Given the description of an element on the screen output the (x, y) to click on. 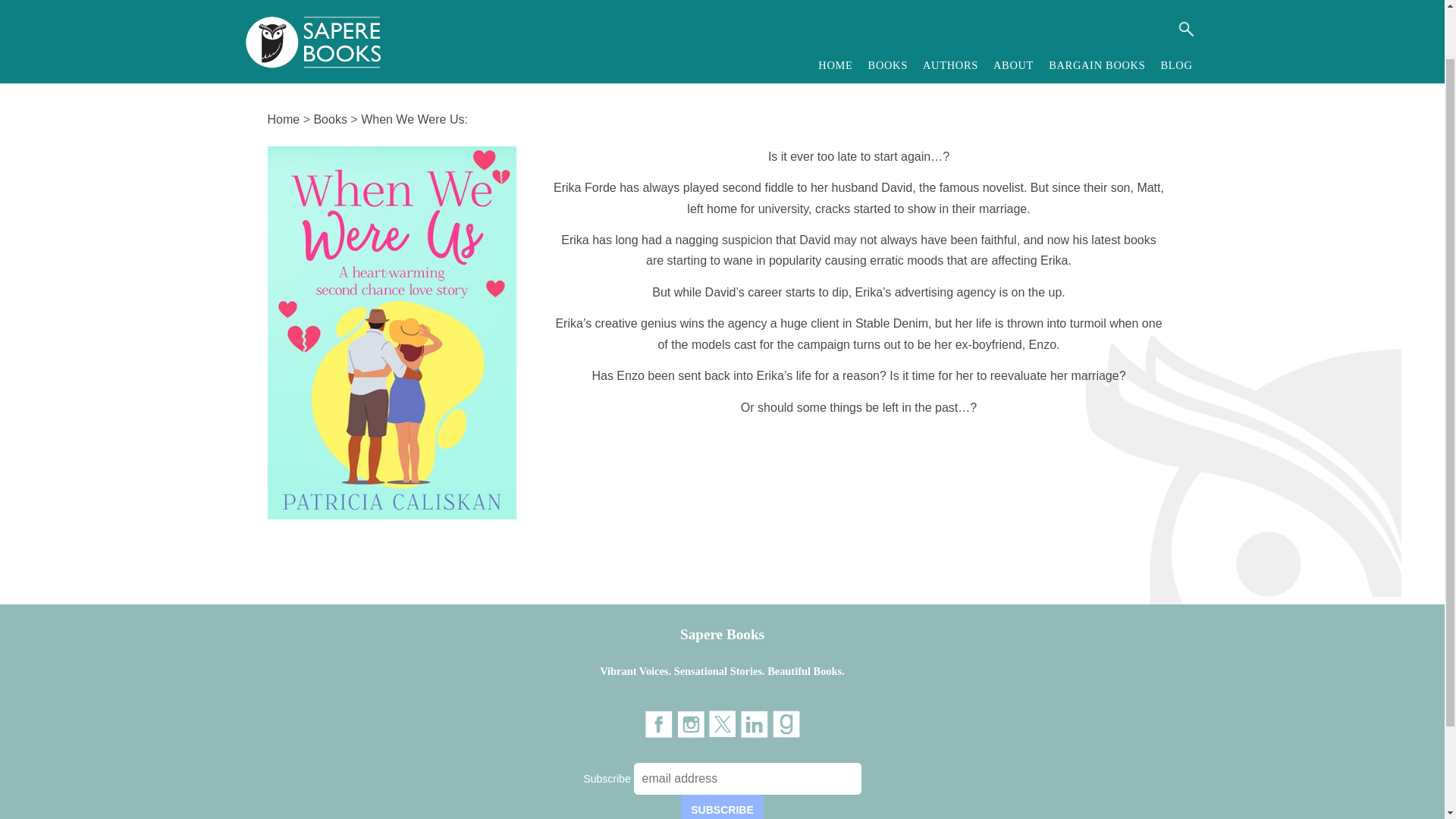
HOME (835, 12)
Home (282, 119)
ABOUT (1013, 12)
AUTHORS (950, 12)
BLOG (1176, 12)
Books (329, 119)
BARGAIN BOOKS (1097, 12)
BOOKS (887, 12)
When We Were Us: (414, 119)
